Given the description of an element on the screen output the (x, y) to click on. 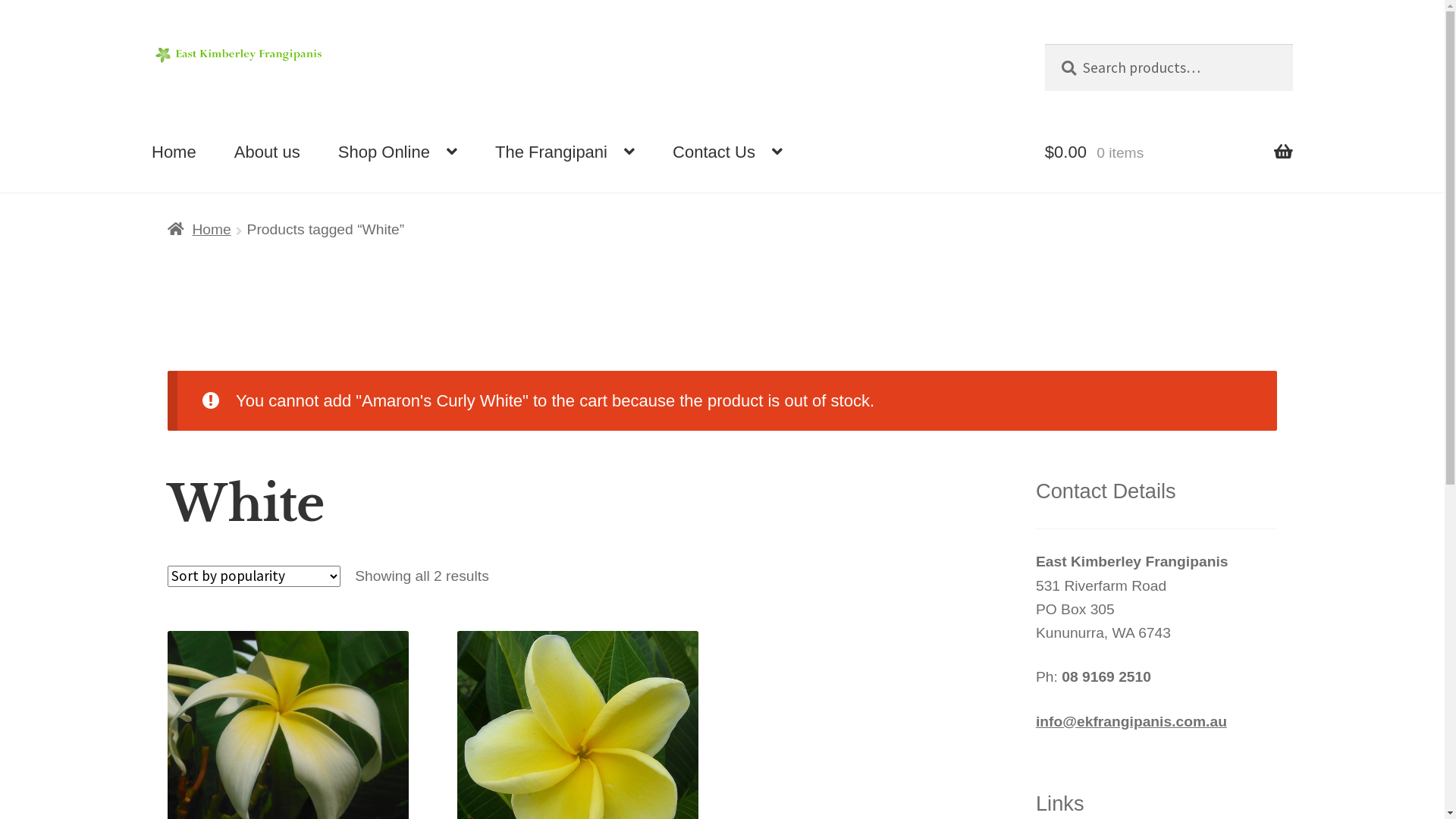
The Frangipani Element type: text (564, 151)
Shop Online Element type: text (397, 151)
info@ekfrangipanis.com.au Element type: text (1130, 721)
Contact Us Element type: text (727, 151)
Home Element type: text (199, 229)
About us Element type: text (266, 151)
Home Element type: text (173, 151)
Skip to navigation Element type: text (150, 43)
Search Element type: text (1044, 43)
$0.00 0 items Element type: text (1168, 151)
